Given the description of an element on the screen output the (x, y) to click on. 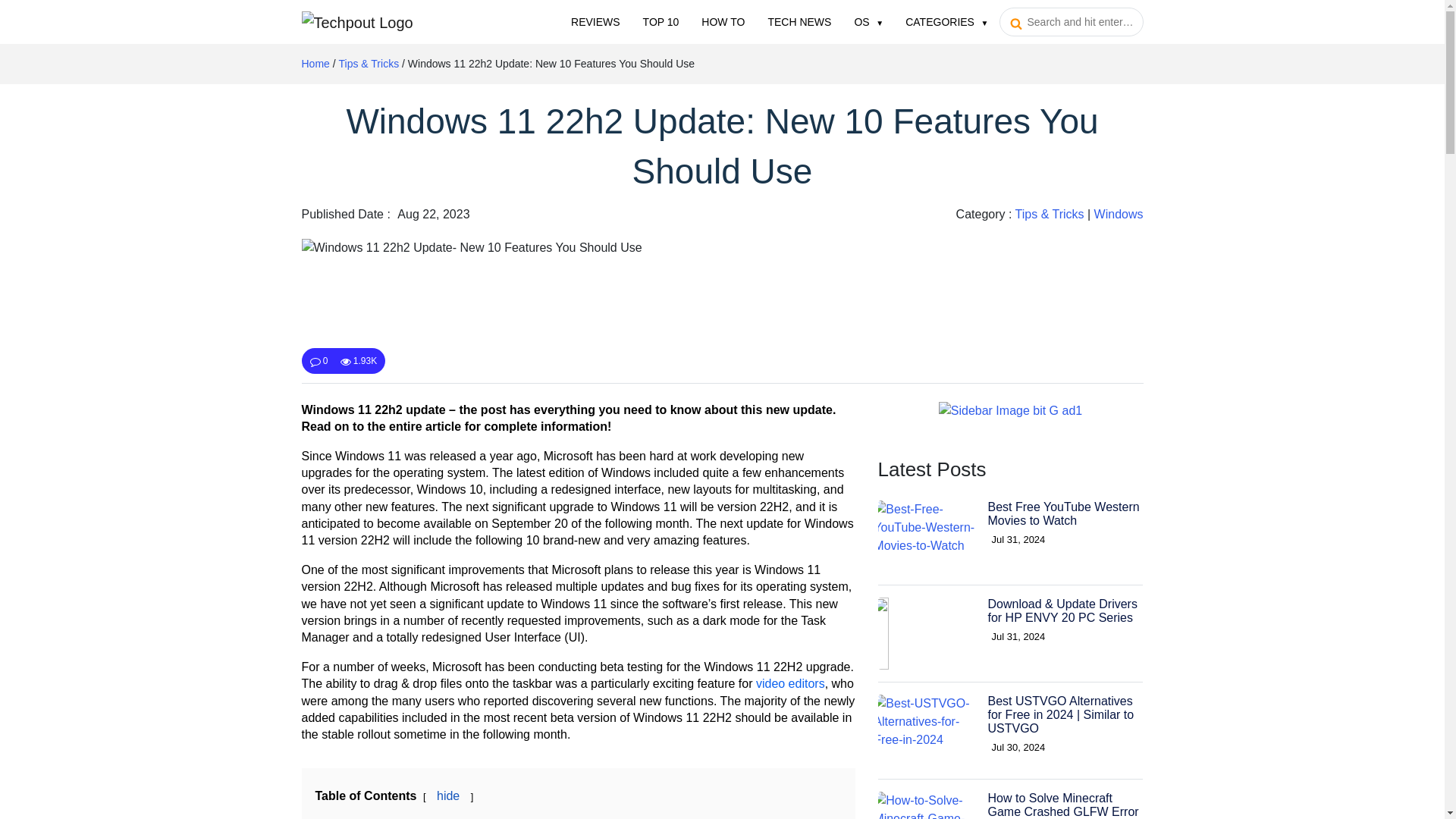
CATEGORIES (946, 21)
video editors (790, 683)
TOP 10 (660, 21)
Home (315, 63)
Reviews (595, 21)
OS (867, 21)
Windows (1118, 214)
TECH NEWS (799, 21)
Tech News (799, 21)
